Given the description of an element on the screen output the (x, y) to click on. 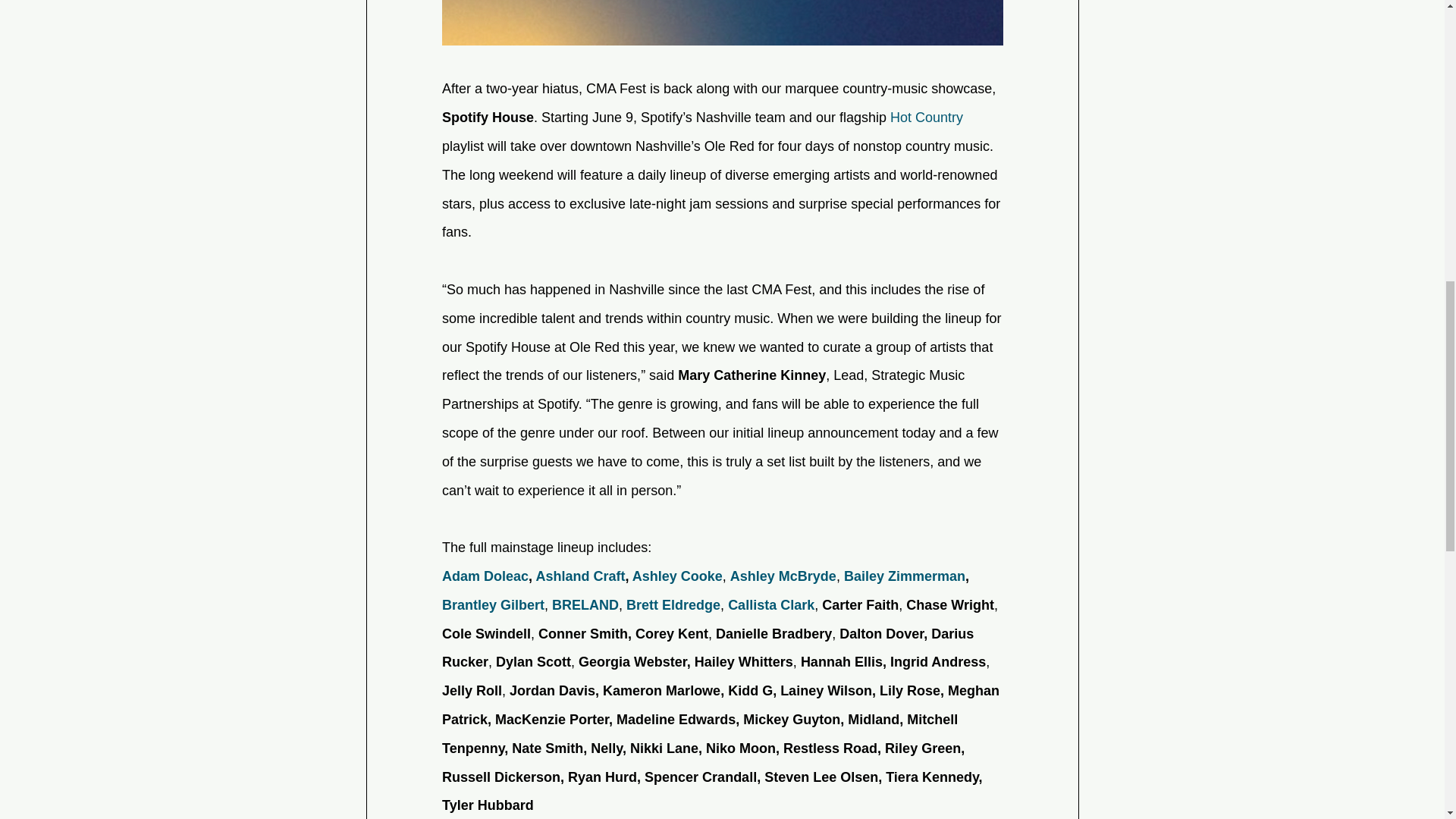
Adam Doleac (484, 575)
BRELAND (584, 604)
Ashley McBryde (782, 575)
Bailey Zimmerman (903, 575)
Brantley Gilbert (492, 604)
Brett Eldredge (673, 604)
Hot Country (925, 117)
Callista Clark (770, 604)
Ashland Craft (579, 575)
Ashley Cooke (676, 575)
